Given the description of an element on the screen output the (x, y) to click on. 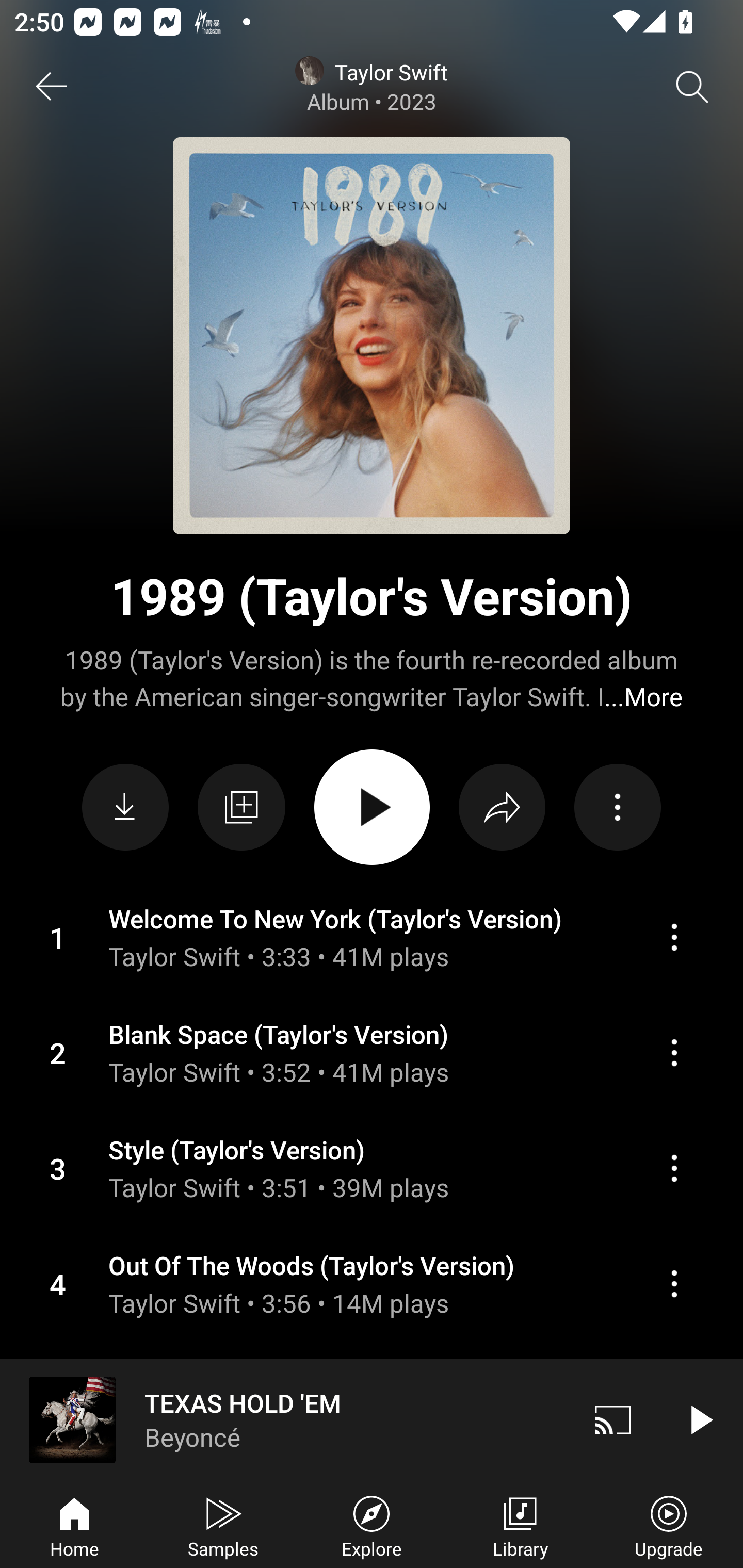
Back (50, 86)
Search (692, 86)
PLAY ALL (371, 807)
Download (125, 807)
Share (501, 807)
Action menu (617, 807)
Save to library (241, 806)
Action menu (371, 937)
Action menu (673, 936)
Action menu (371, 1052)
Action menu (673, 1052)
Action menu (371, 1168)
Action menu (673, 1168)
Action menu (371, 1284)
Action menu (673, 1283)
TEXAS HOLD 'EM Beyoncé (284, 1419)
Cast. Disconnected (612, 1419)
Play video (699, 1419)
Home (74, 1524)
Samples (222, 1524)
Explore (371, 1524)
Library (519, 1524)
Upgrade (668, 1524)
